Given the description of an element on the screen output the (x, y) to click on. 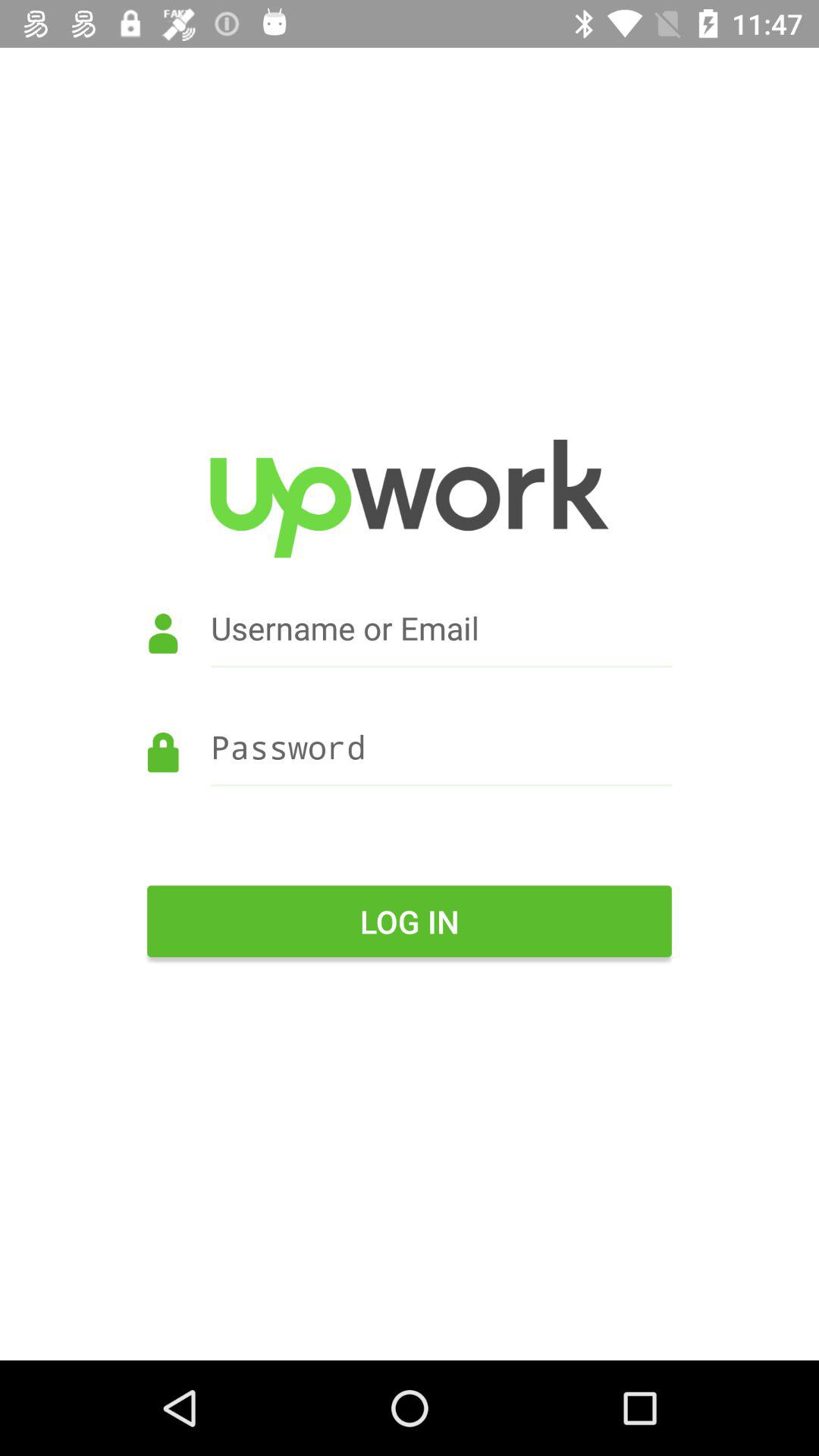
username or email (409, 649)
